Given the description of an element on the screen output the (x, y) to click on. 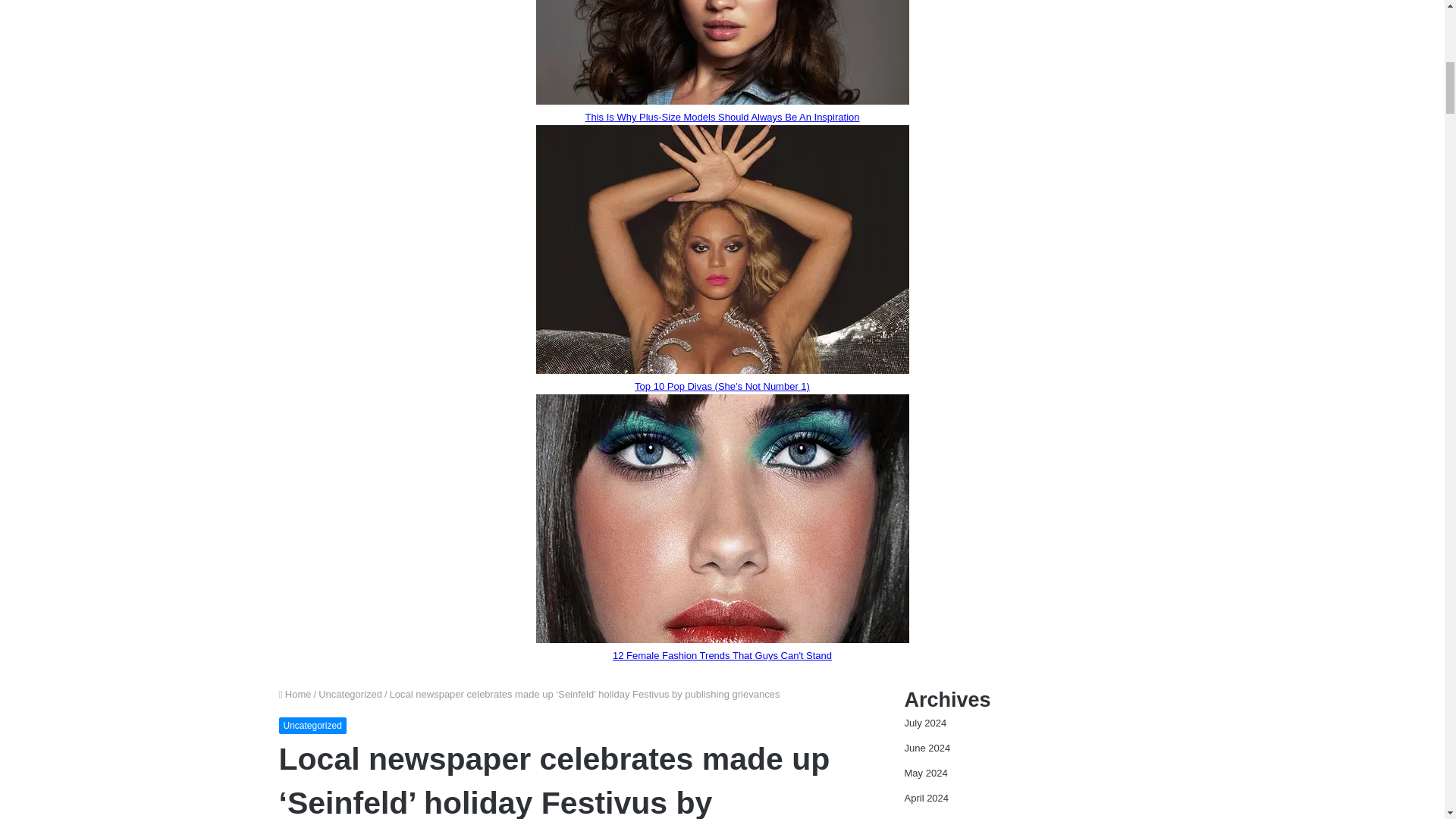
Uncategorized (312, 725)
Home (295, 694)
Uncategorized (349, 694)
